Given the description of an element on the screen output the (x, y) to click on. 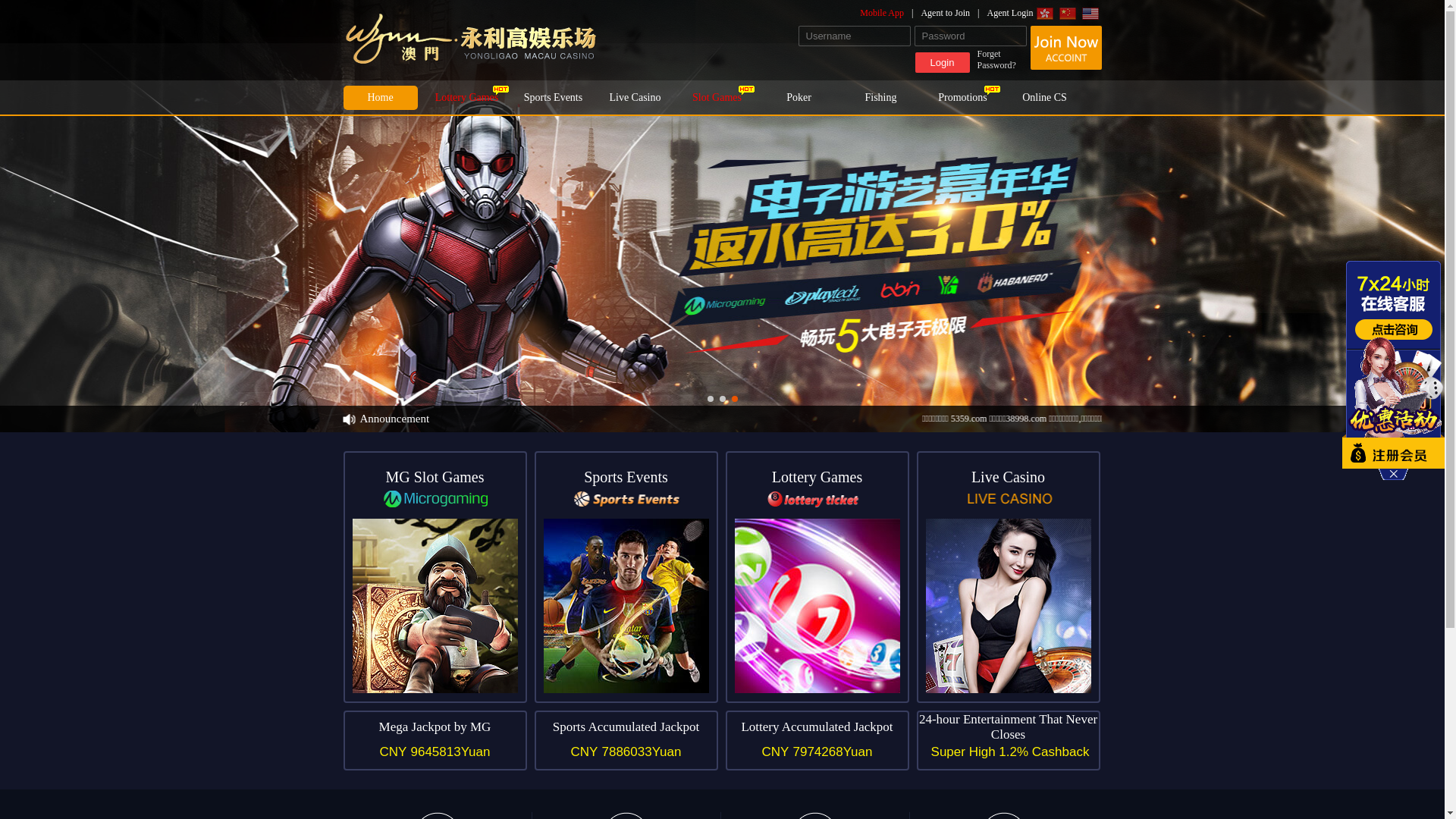
Live Casino Element type: text (634, 97)
Promotions Element type: text (962, 97)
Mega Jackpot by MG
CNY9645813Yuan Element type: text (434, 740)
Lottery Accumulated Jackpot
CNY7974268Yuan Element type: text (816, 740)
Sports Accumulated Jackpot
CNY7886033Yuan Element type: text (625, 740)
Lottery Games Element type: text (466, 97)
Login Element type: text (941, 62)
Lottery Games Element type: text (816, 576)
Home Element type: text (379, 97)
Online CS Element type: text (1044, 97)
MG Slot Games Element type: text (434, 576)
Fishing Element type: text (880, 97)
Slot Games Element type: text (716, 97)
Agent to Join Element type: text (953, 12)
Sports Events Element type: text (552, 97)
Mobile App Element type: text (889, 12)
Agent Login Element type: text (1010, 12)
Forget Password? Element type: text (1000, 59)
Sports Events Element type: text (625, 576)
Live Casino Element type: text (1007, 576)
Poker Element type: text (798, 97)
